Given the description of an element on the screen output the (x, y) to click on. 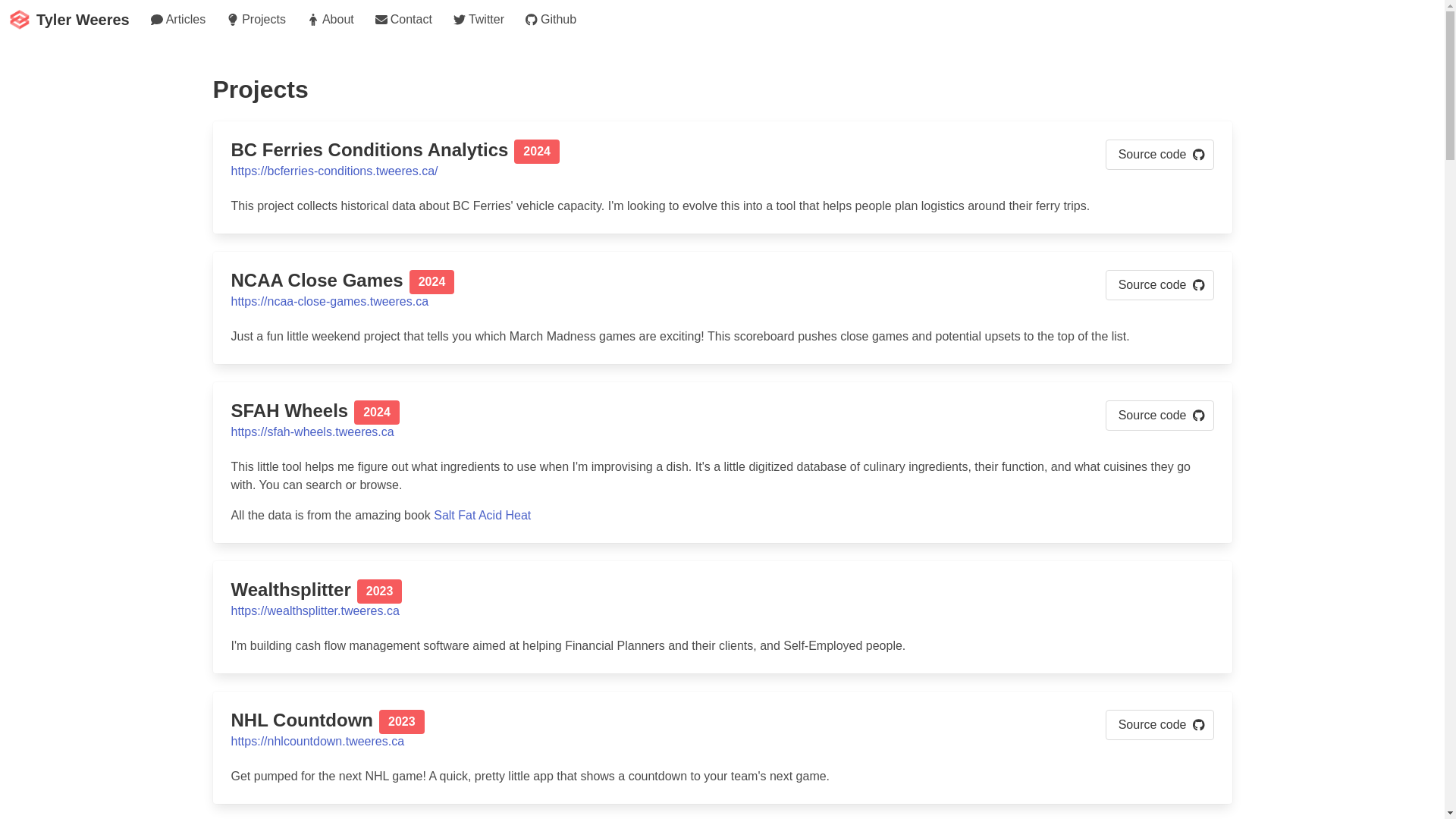
Contact (401, 19)
Source code (1159, 415)
Tyler Weeres (69, 19)
Github (549, 19)
Articles (658, 282)
Source code (176, 19)
Twitter (1159, 285)
About (477, 19)
Projects (328, 19)
Source code (658, 412)
Salt Fat Acid Heat (254, 19)
